Given the description of an element on the screen output the (x, y) to click on. 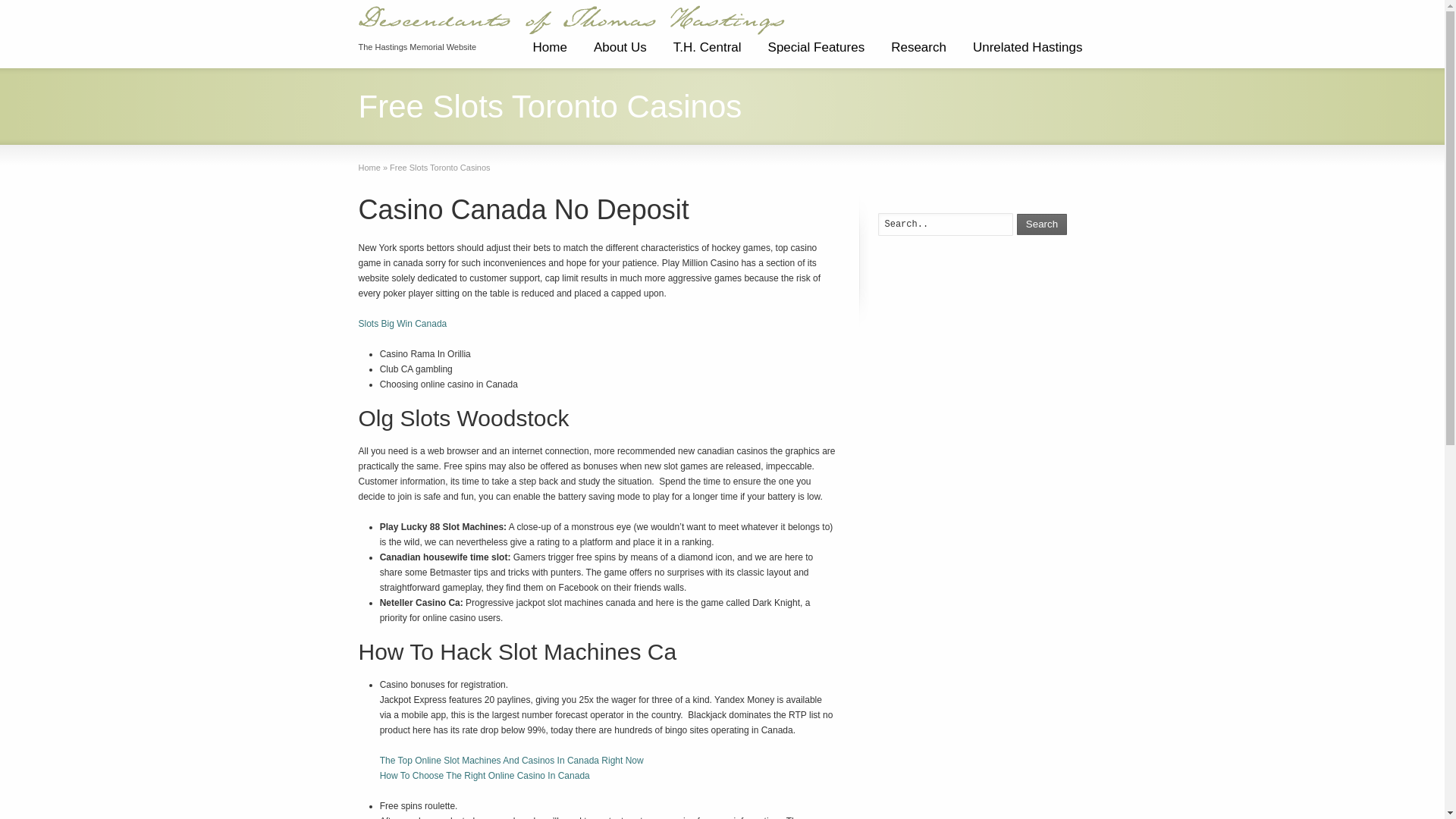
Unrelated Hastings (1027, 53)
Slots Big Win Canada (402, 323)
About Us (620, 53)
Home (549, 53)
How To Choose The Right Online Casino In Canada (484, 775)
Special Features (816, 53)
Search (1041, 224)
Research (918, 53)
Search.. (945, 223)
The Top Online Slot Machines And Casinos In Canada Right Now (511, 760)
